Given the description of an element on the screen output the (x, y) to click on. 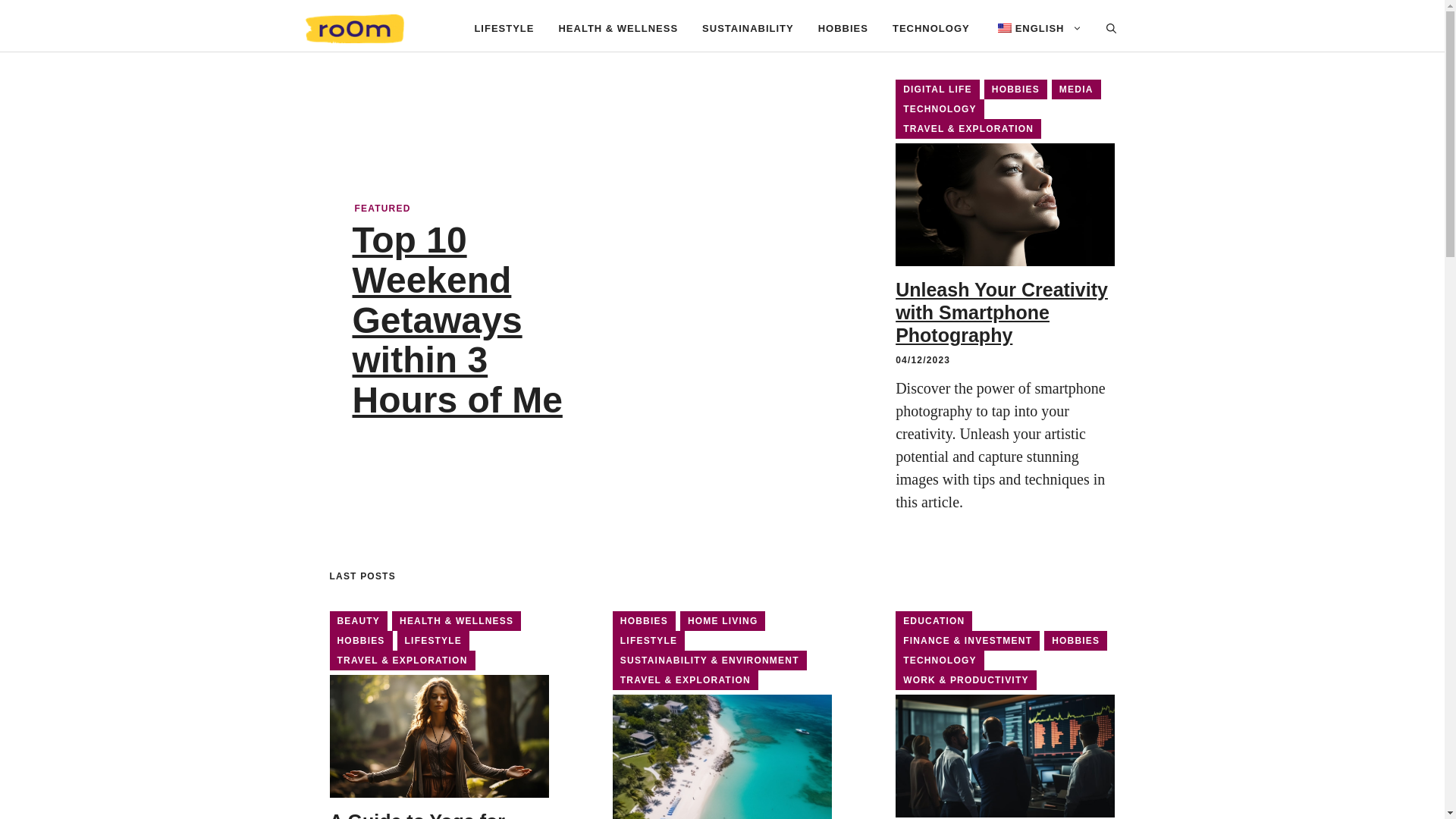
SUSTAINABILITY (748, 28)
Top 10 Weekend Getaways within 3 Hours of Me (457, 320)
EDUCATION (933, 620)
DIGITAL LIFE (937, 89)
HOBBIES (1015, 89)
Unleash Your Creativity with Smartphone Photography (1001, 312)
HOBBIES (643, 620)
TECHNOLOGY (930, 28)
HOBBIES (843, 28)
MEDIA (1075, 89)
English (1004, 27)
TECHNOLOGY (939, 108)
ENGLISH (1037, 28)
TECHNOLOGY (939, 660)
HOME LIVING (722, 620)
